Given the description of an element on the screen output the (x, y) to click on. 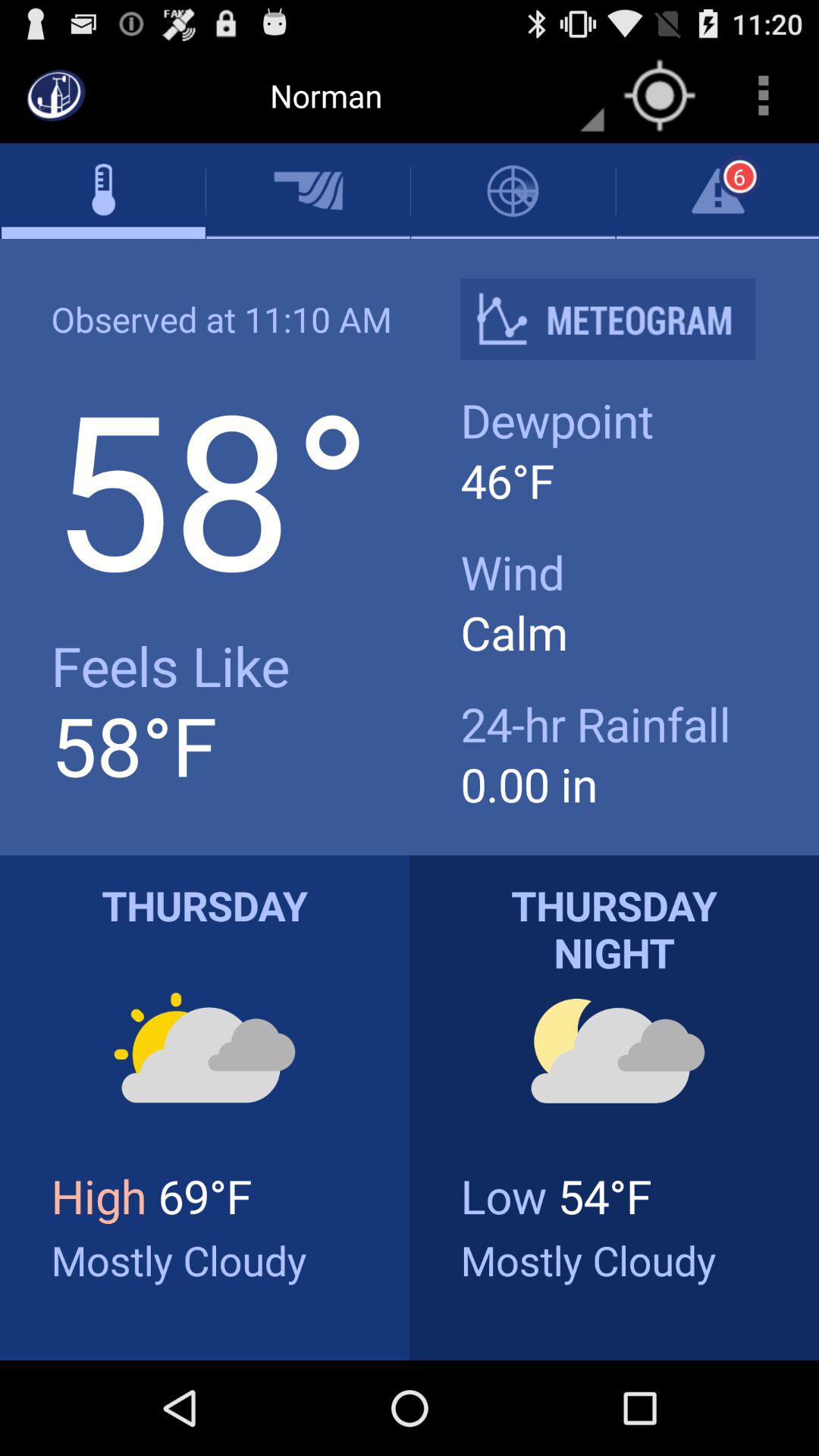
turn off icon above dewpoint (619, 319)
